Given the description of an element on the screen output the (x, y) to click on. 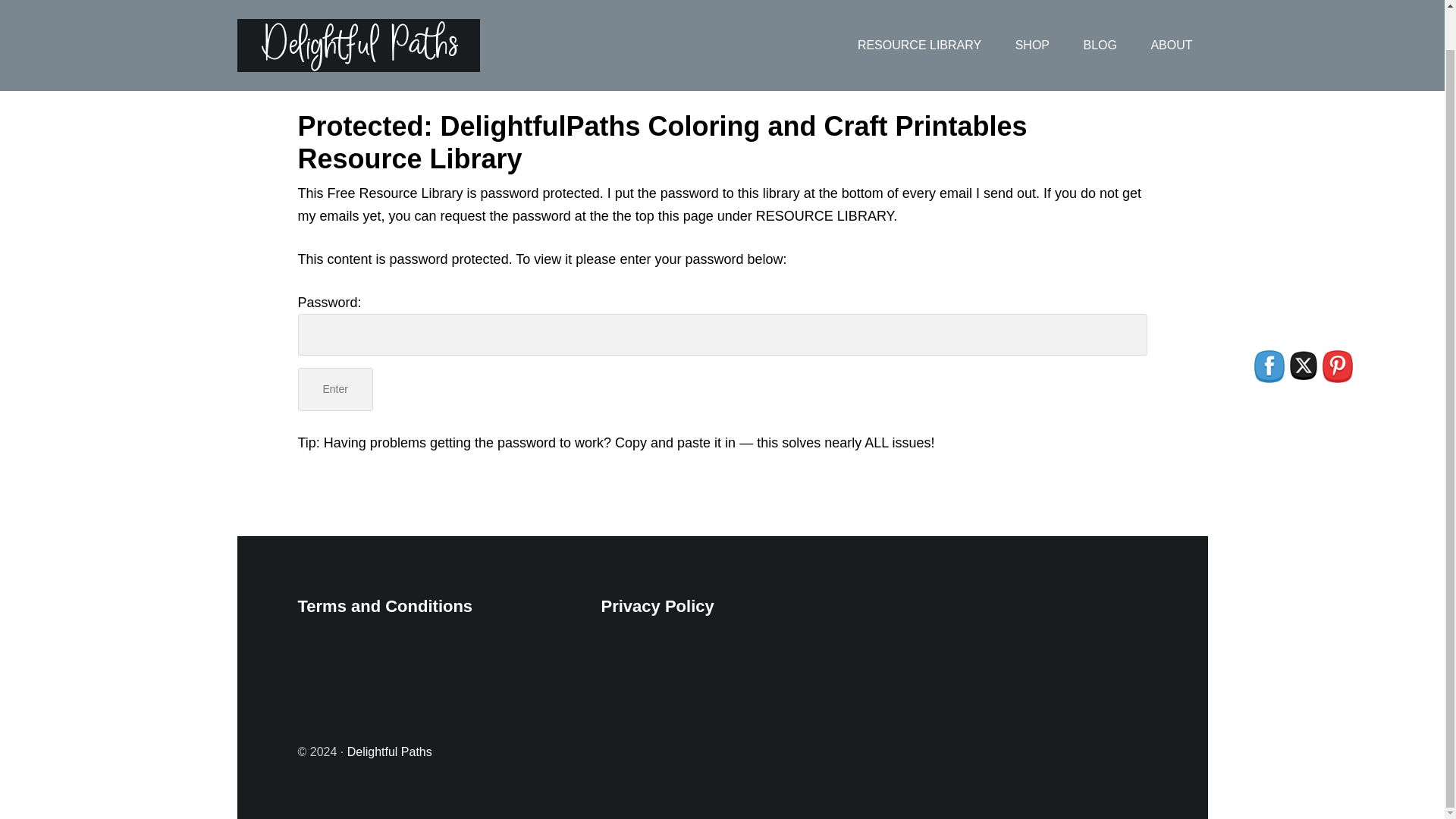
BLOG (1099, 24)
Delightful Paths (357, 15)
Facebook (1268, 366)
Enter (334, 389)
RESOURCE LIBRARY (919, 24)
Twitter (1303, 365)
Pinterest (1337, 366)
Enter (334, 389)
Delightful Paths (389, 751)
SHOP (1032, 24)
